Given the description of an element on the screen output the (x, y) to click on. 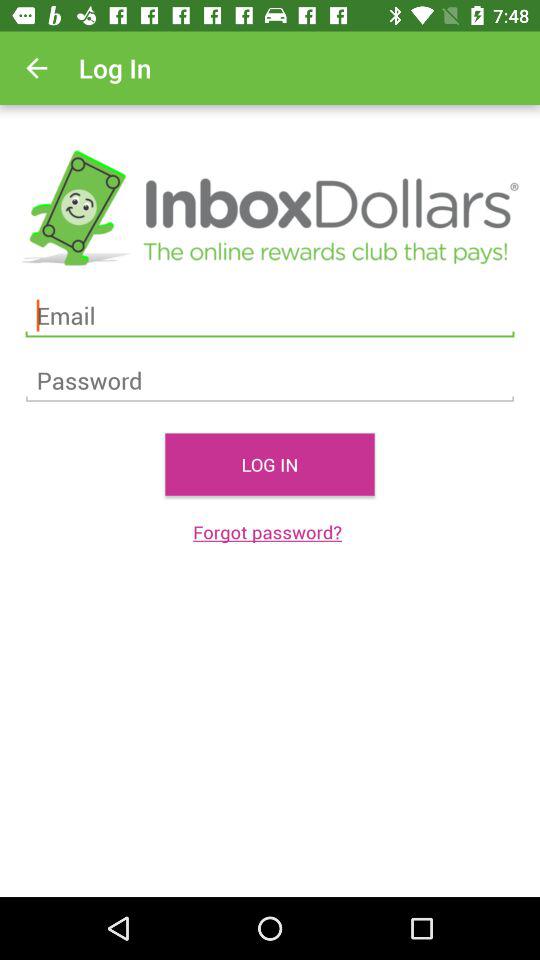
email address (270, 316)
